Given the description of an element on the screen output the (x, y) to click on. 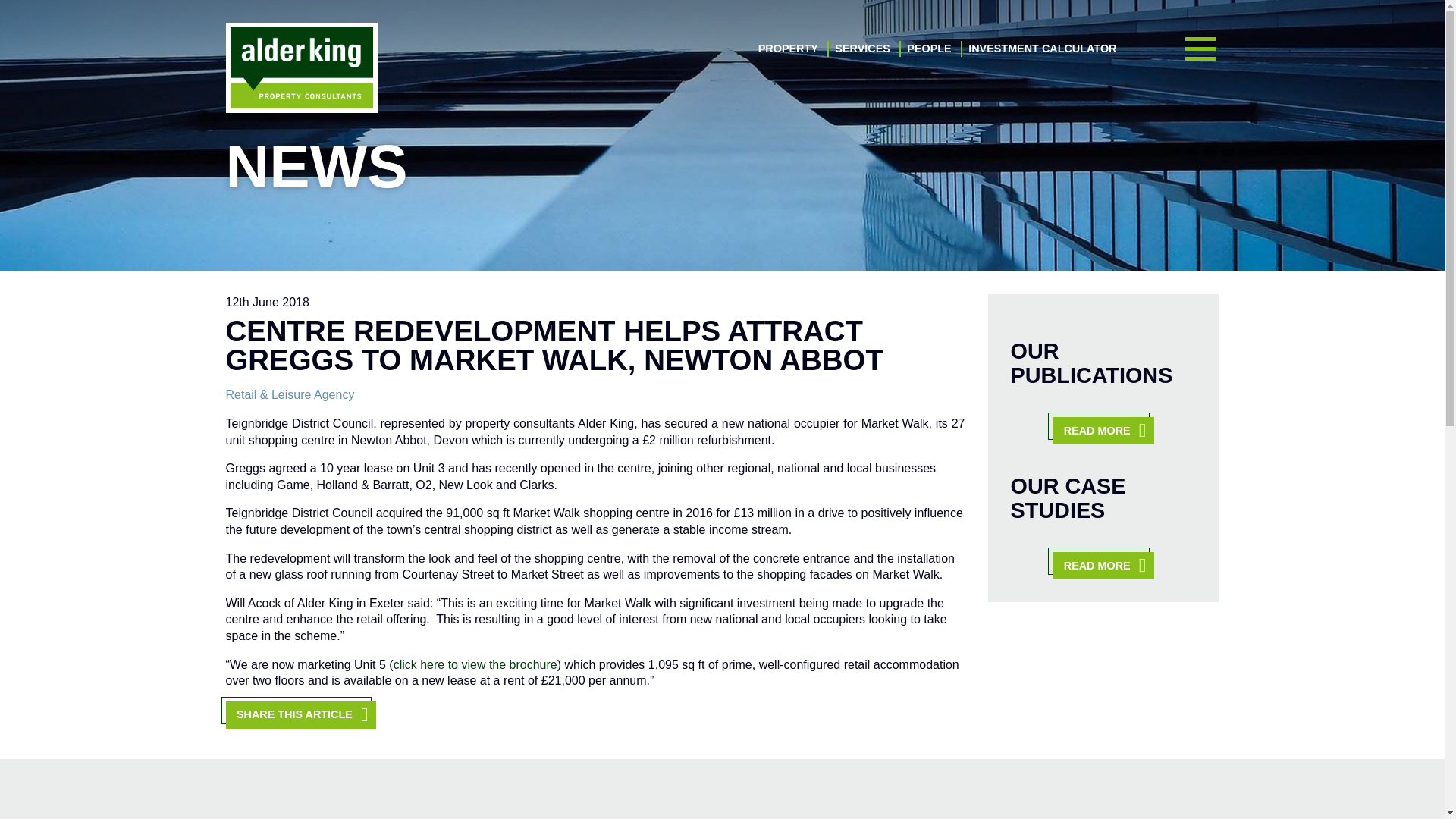
Search (1178, 482)
SERVICES (861, 48)
toggle menu (1199, 49)
READ MORE (1102, 430)
PEOPLE (928, 48)
click here to view the brochure (475, 664)
READ MORE (1102, 565)
PROPERTY (788, 48)
INVESTMENT CALCULATOR (1042, 48)
SHARE THIS ARTICLE (300, 714)
